Given the description of an element on the screen output the (x, y) to click on. 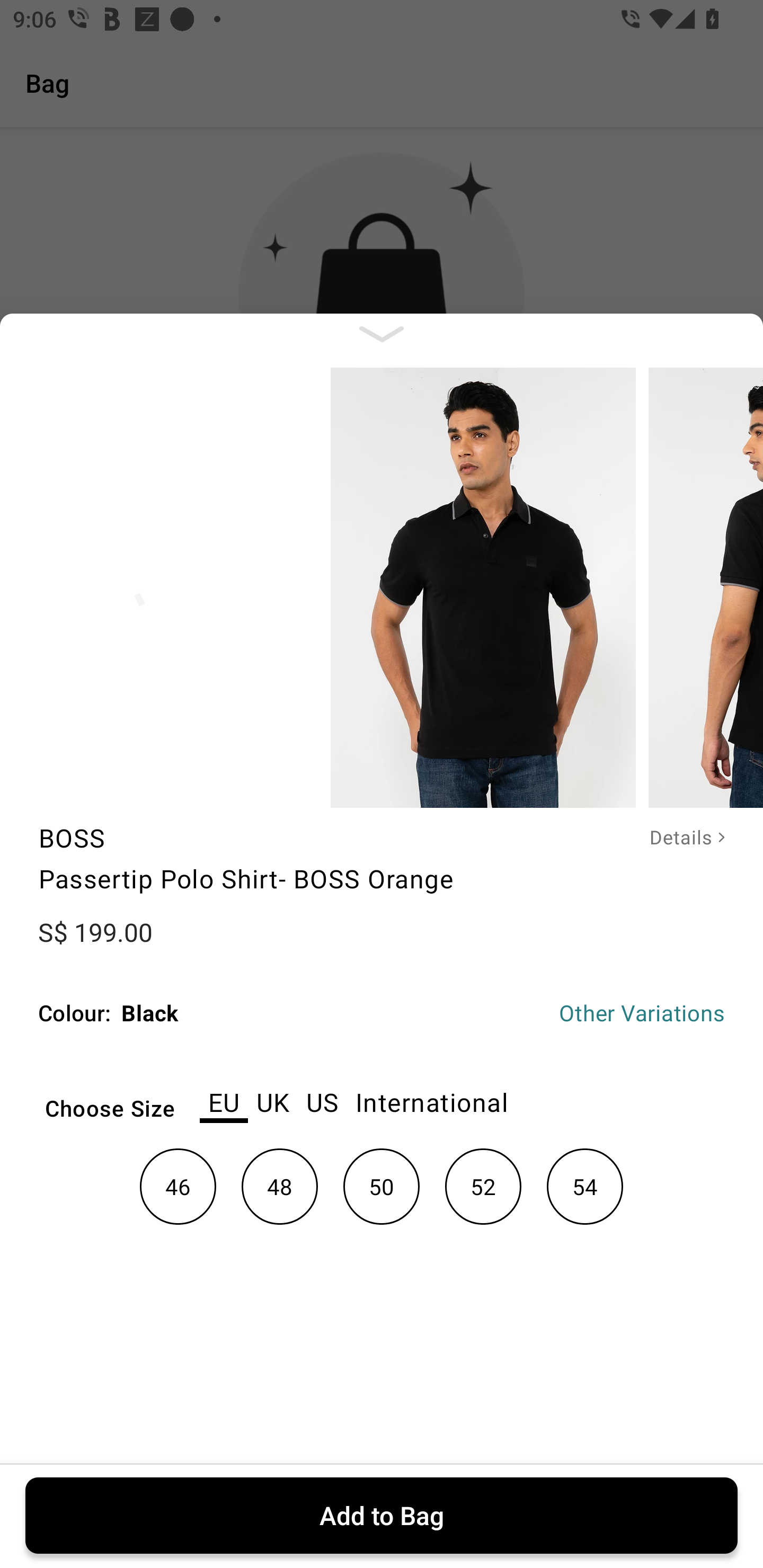
Details (673, 838)
Other Variations (641, 1012)
UK (272, 1094)
US (322, 1094)
International (431, 1094)
46 (177, 1185)
48 (279, 1185)
50 (381, 1185)
52 (483, 1185)
54 (584, 1185)
Add to Bag (381, 1515)
